Given the description of an element on the screen output the (x, y) to click on. 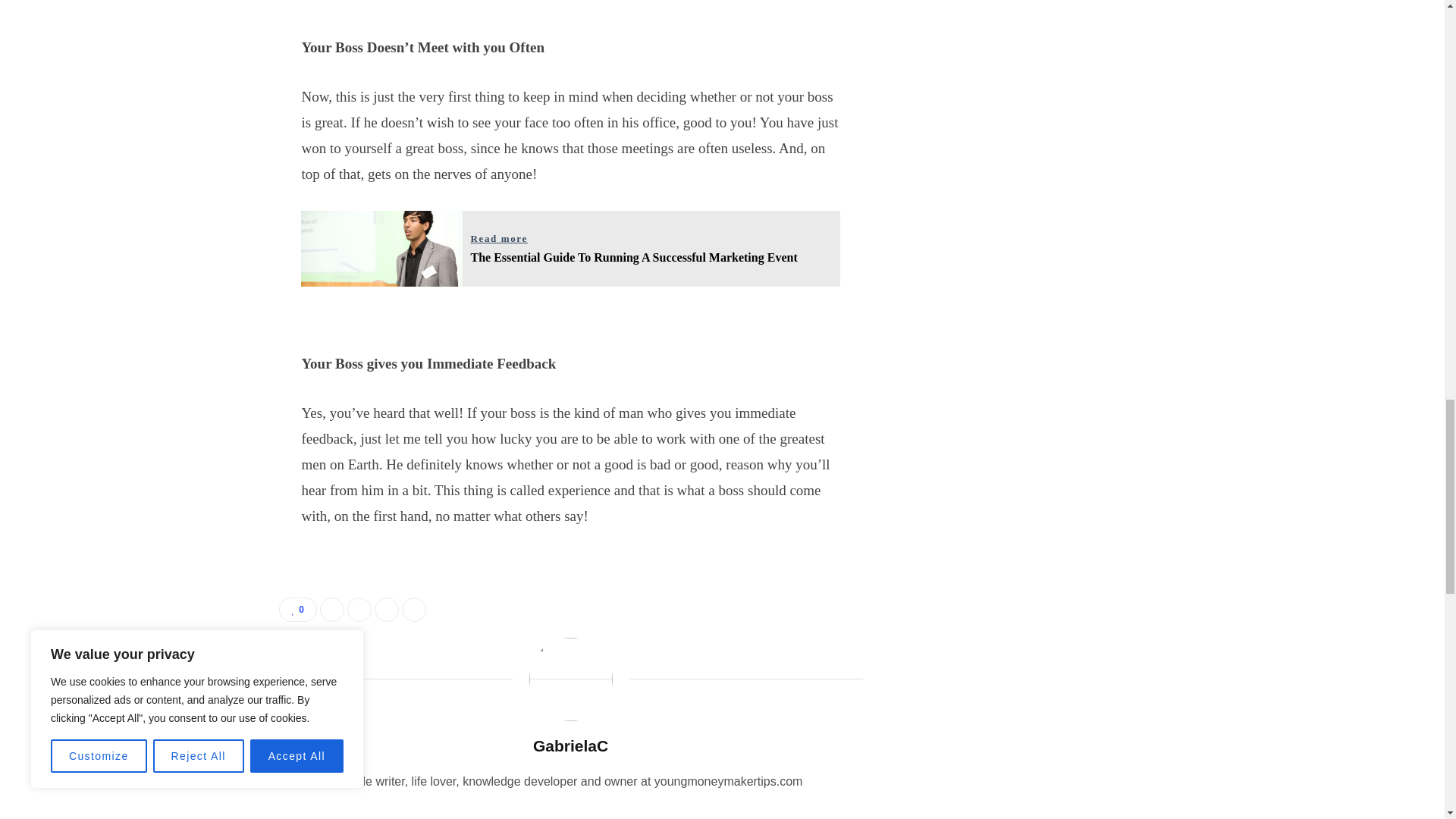
Posts by GabrielaC (570, 745)
LinkedIn (386, 609)
Pinterest (413, 609)
Share on Twitter (359, 609)
0 (298, 609)
Share on Facebook (331, 609)
